Given the description of an element on the screen output the (x, y) to click on. 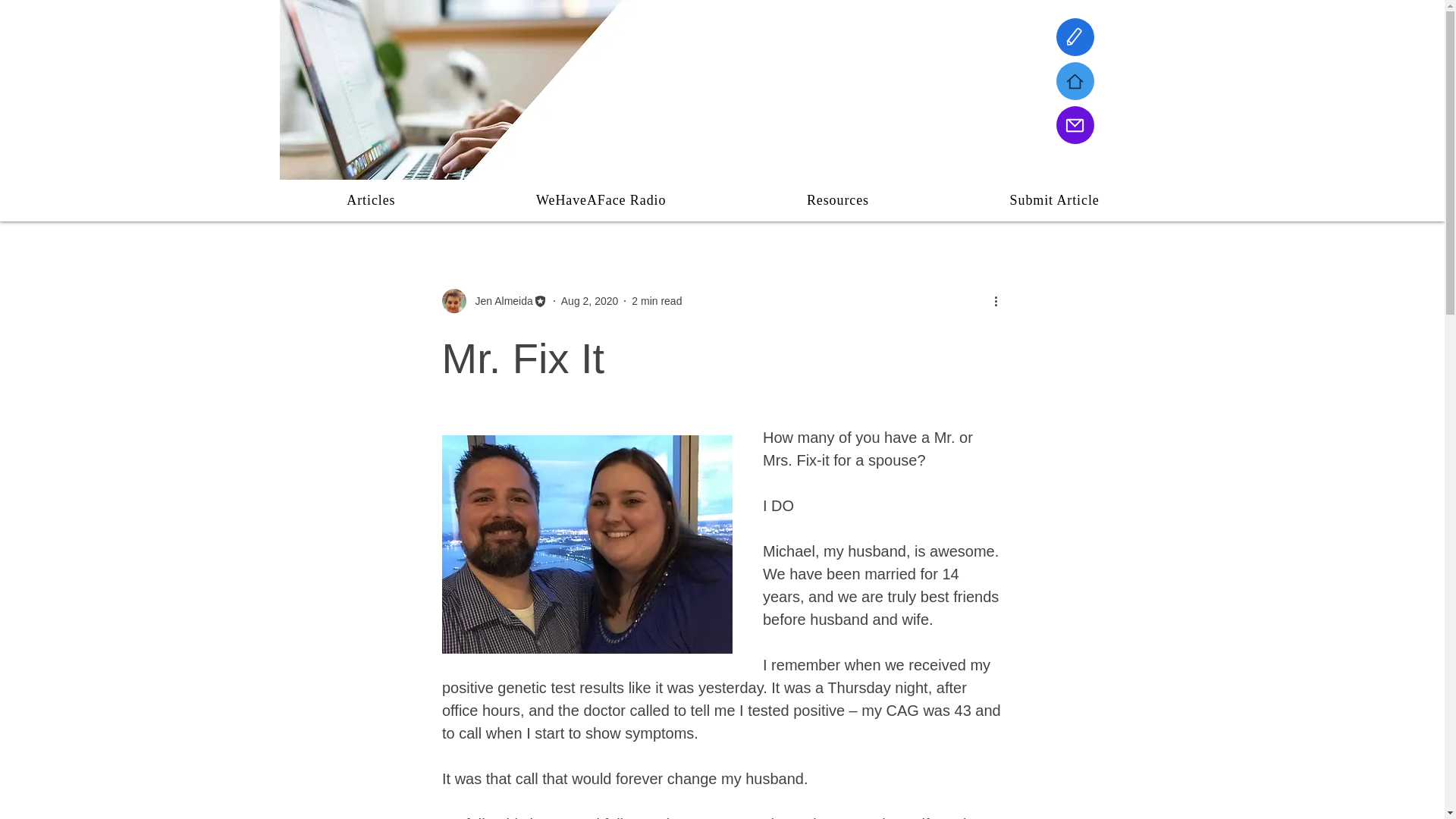
2 min read (656, 300)
Submit Article (1054, 200)
Jen Almeida (498, 300)
Aug 2, 2020 (589, 300)
Articles (371, 200)
Resources (837, 200)
WeHaveAFace Radio (600, 200)
Jen Almeida (494, 300)
